Given the description of an element on the screen output the (x, y) to click on. 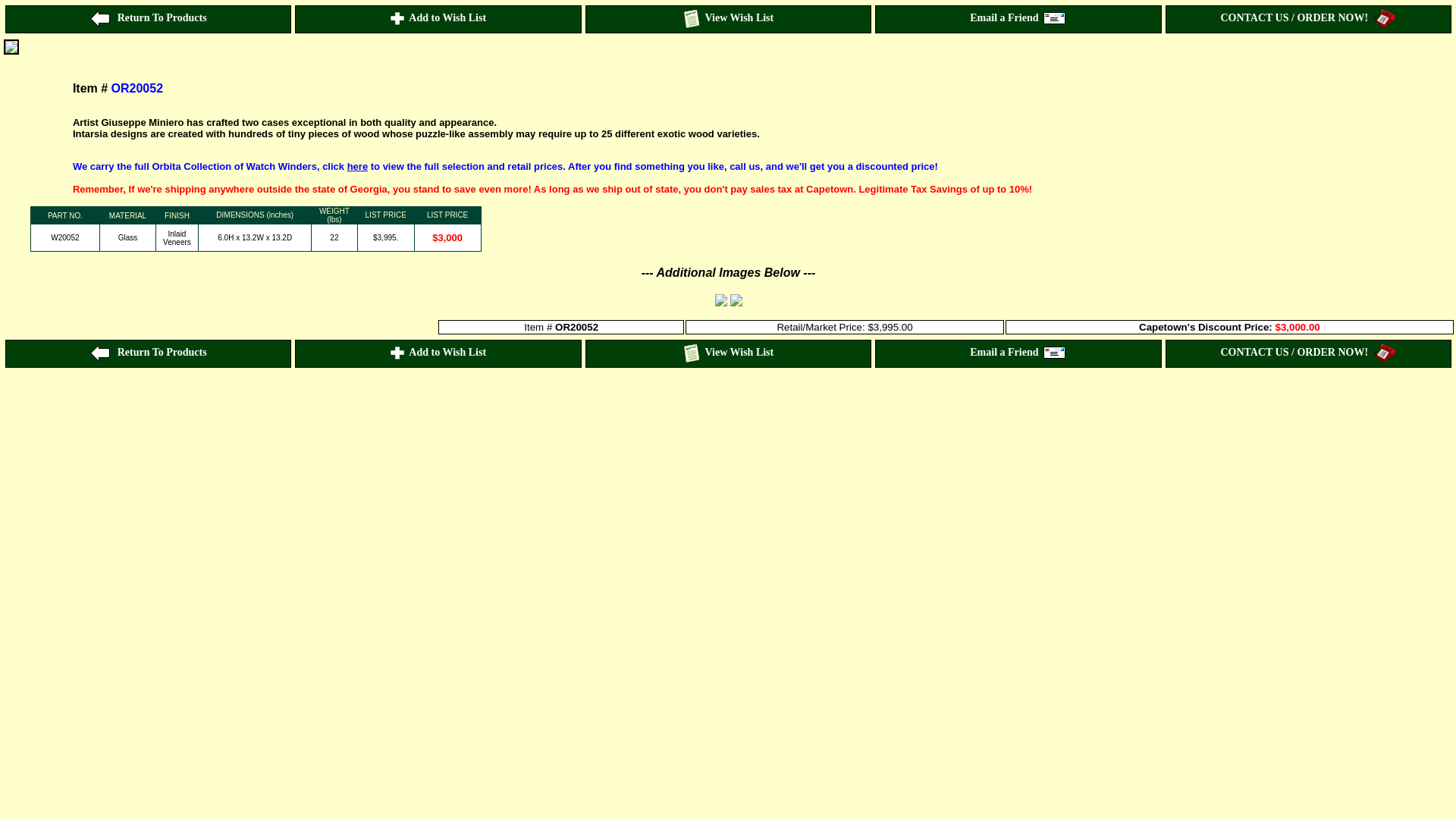
  View Wish List (728, 353)
  Return To Products (147, 18)
  Add to Wish List (437, 353)
here (357, 165)
  View Wish List (728, 18)
Email a Friend   (1018, 18)
  Return To Products (147, 353)
  Add to Wish List (437, 18)
Email a Friend   (1018, 353)
